Given the description of an element on the screen output the (x, y) to click on. 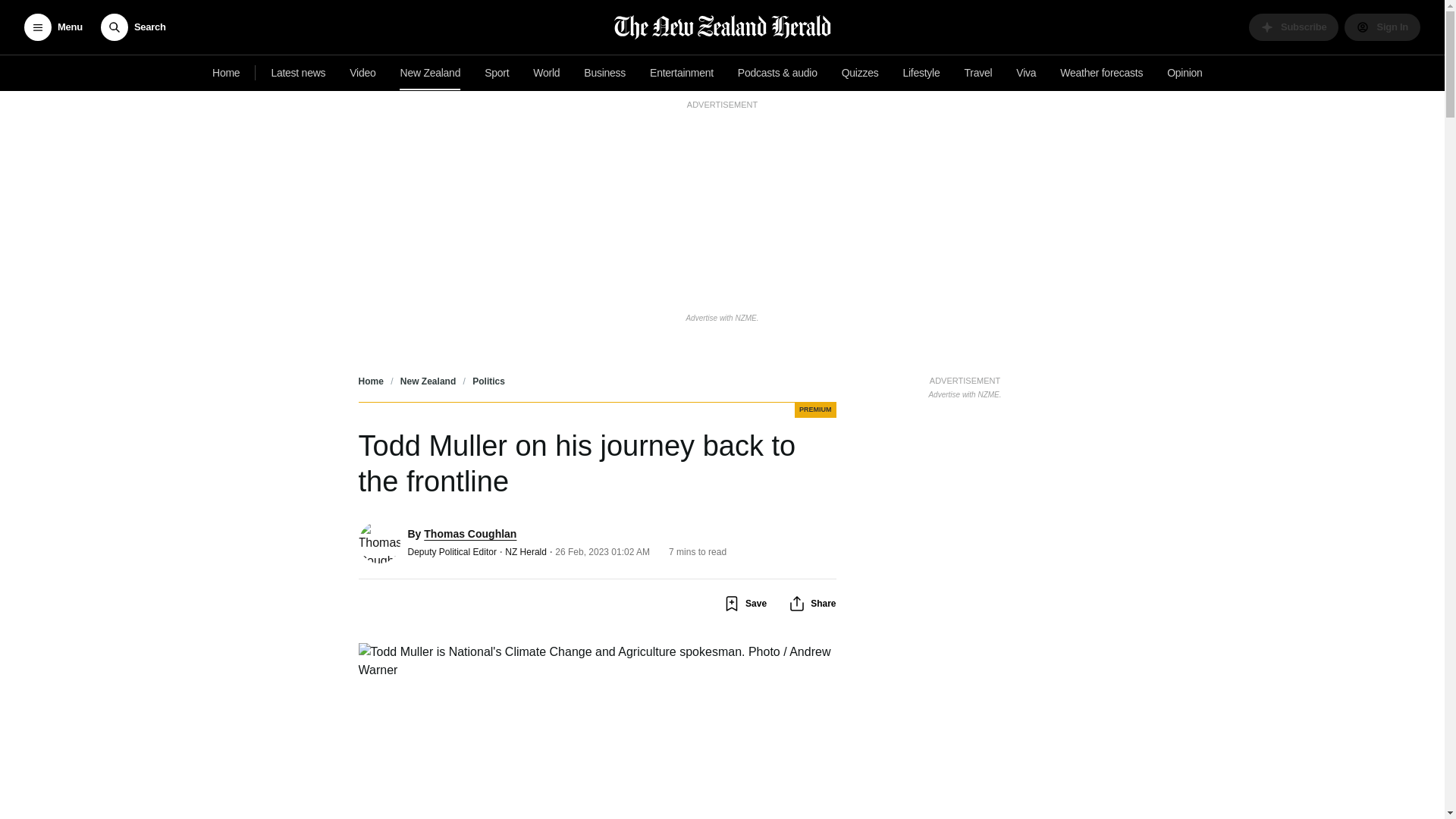
World (546, 72)
Sport (497, 72)
Business (604, 72)
Opinion (1184, 72)
Menu (53, 26)
Home (225, 72)
Weather forecasts (1101, 72)
Lifestyle (921, 72)
Viva (1026, 72)
Quizzes (860, 72)
